Given the description of an element on the screen output the (x, y) to click on. 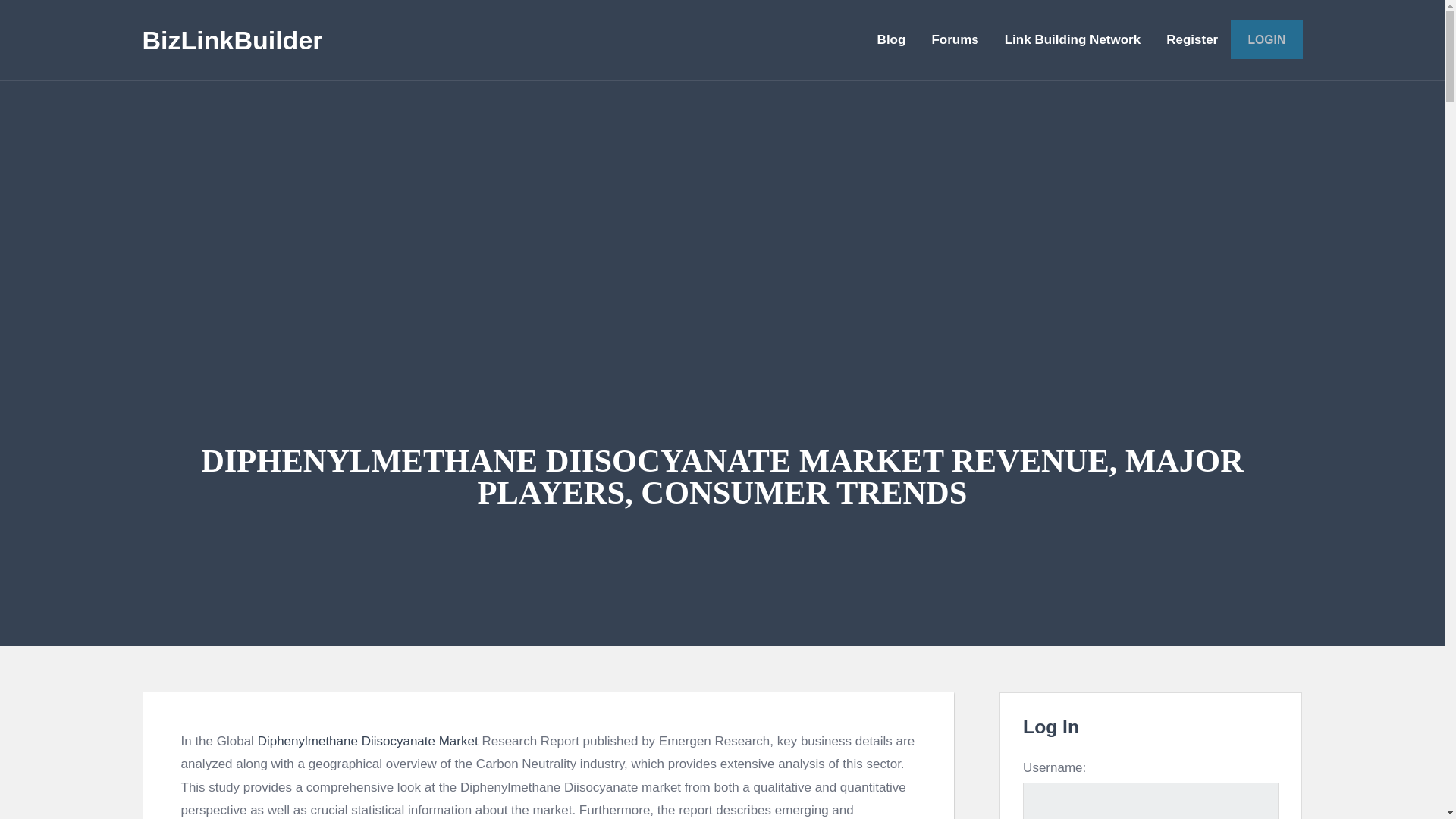
Diphenylmethane Diisocyanate Market (368, 740)
Register (1191, 40)
BizLinkBuilder (232, 39)
Link Building Network (1072, 40)
Forums (954, 40)
LOGIN (1265, 39)
